Given the description of an element on the screen output the (x, y) to click on. 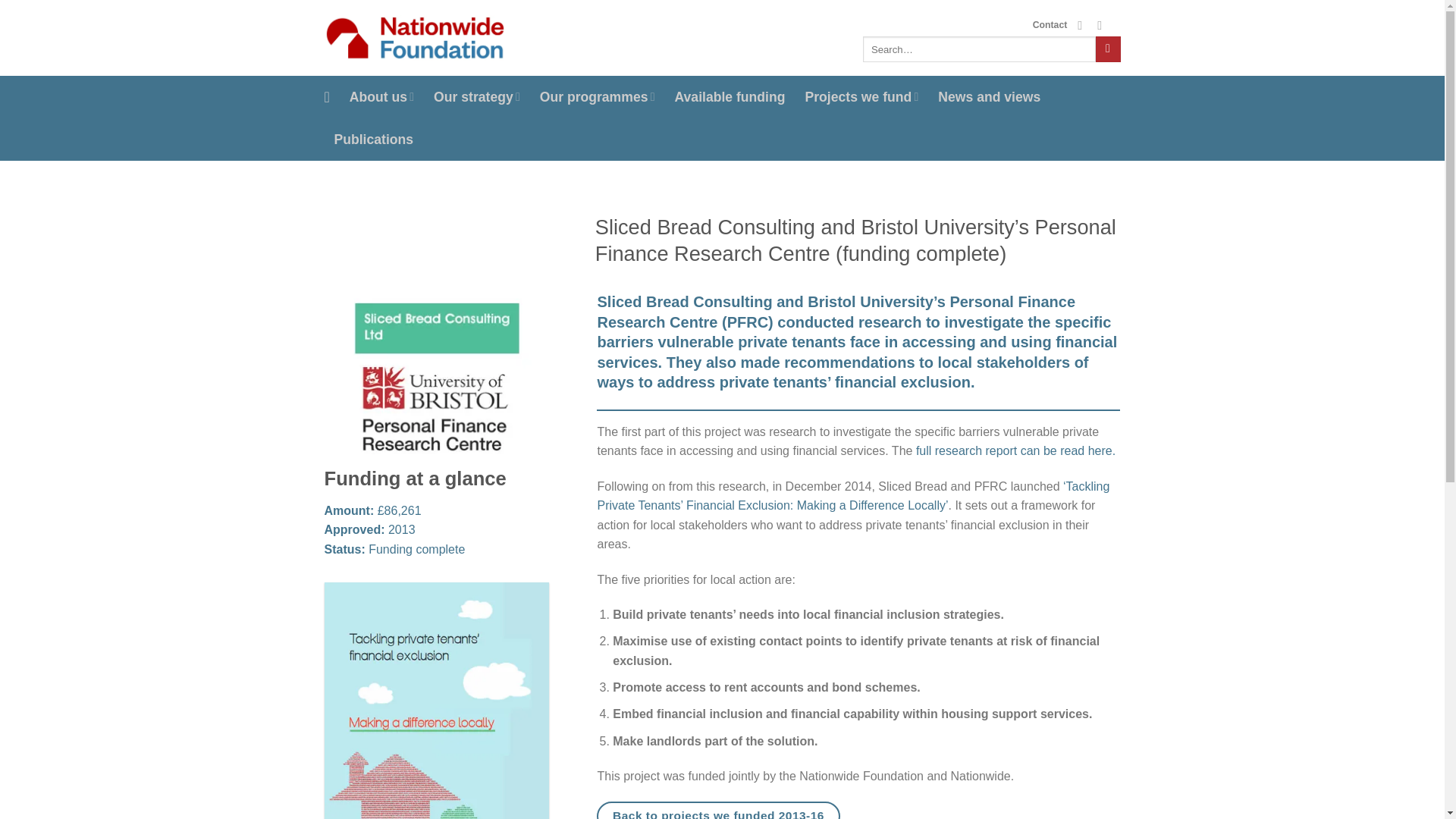
Our strategy (476, 96)
Projects we fund (861, 96)
Our programmes (597, 96)
Contact (1049, 24)
Available funding (730, 96)
Follow on X (1083, 24)
About us (381, 96)
Publications (373, 138)
News and views (989, 96)
